Given the description of an element on the screen output the (x, y) to click on. 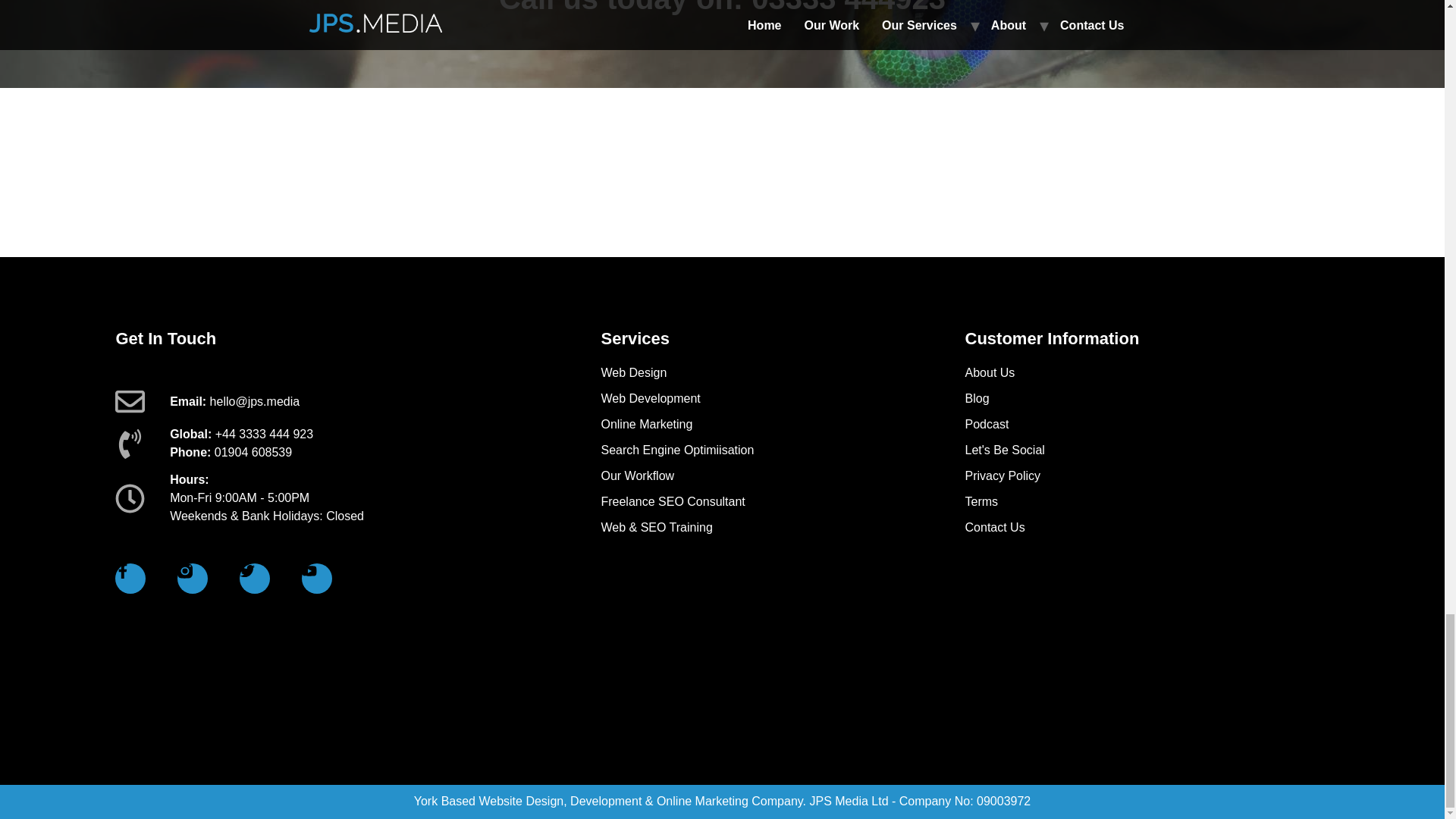
Web Design (781, 372)
Podcast (1147, 424)
Our Workflow (781, 475)
Freelance SEO Consultant (781, 502)
Blog (1147, 398)
Web Development (781, 398)
Search Engine Optimiisation (781, 450)
Online Marketing (781, 424)
DMCA.com Protection Status (1215, 691)
About Us (1147, 372)
